Given the description of an element on the screen output the (x, y) to click on. 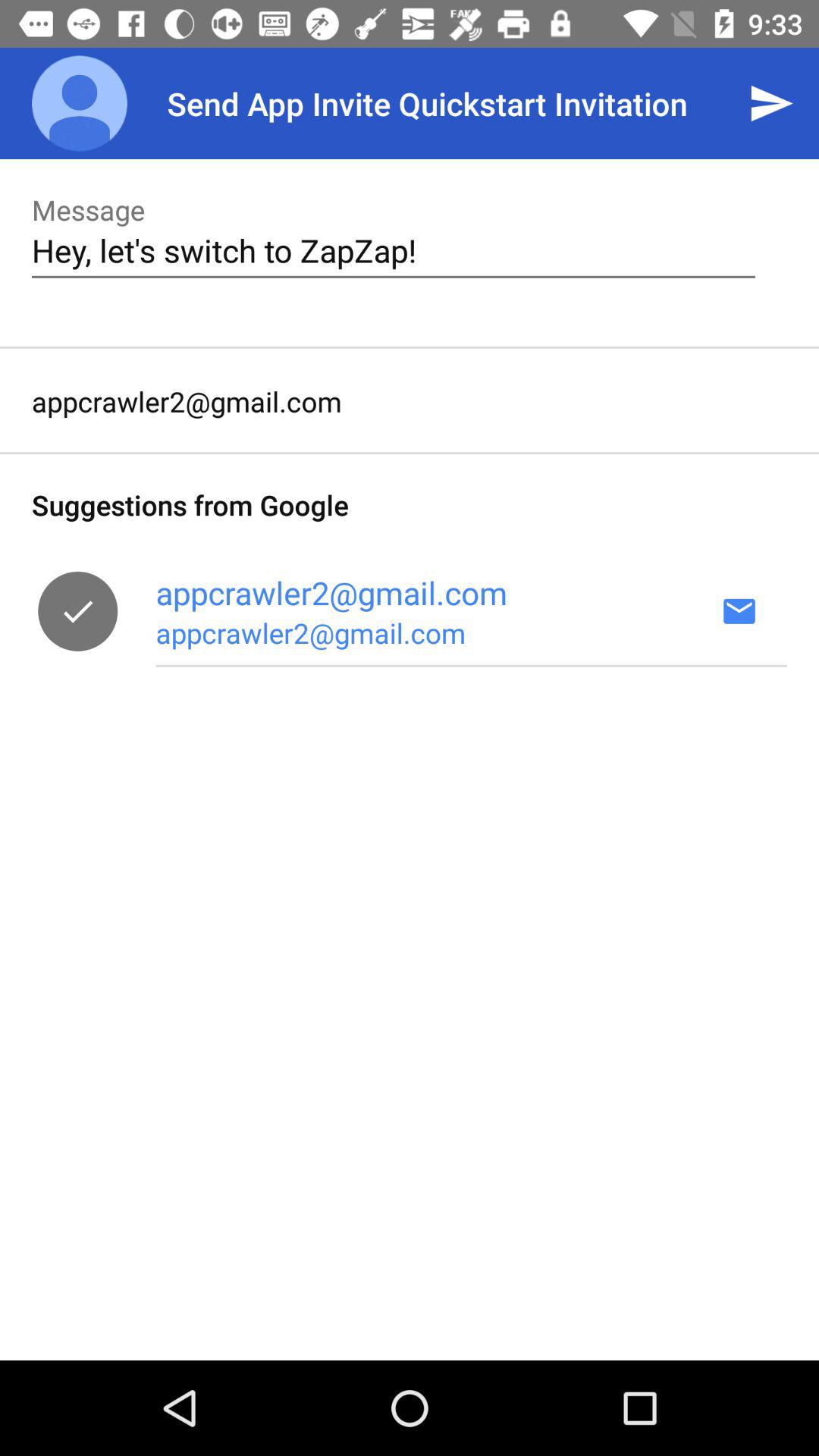
click hey let s icon (393, 249)
